Given the description of an element on the screen output the (x, y) to click on. 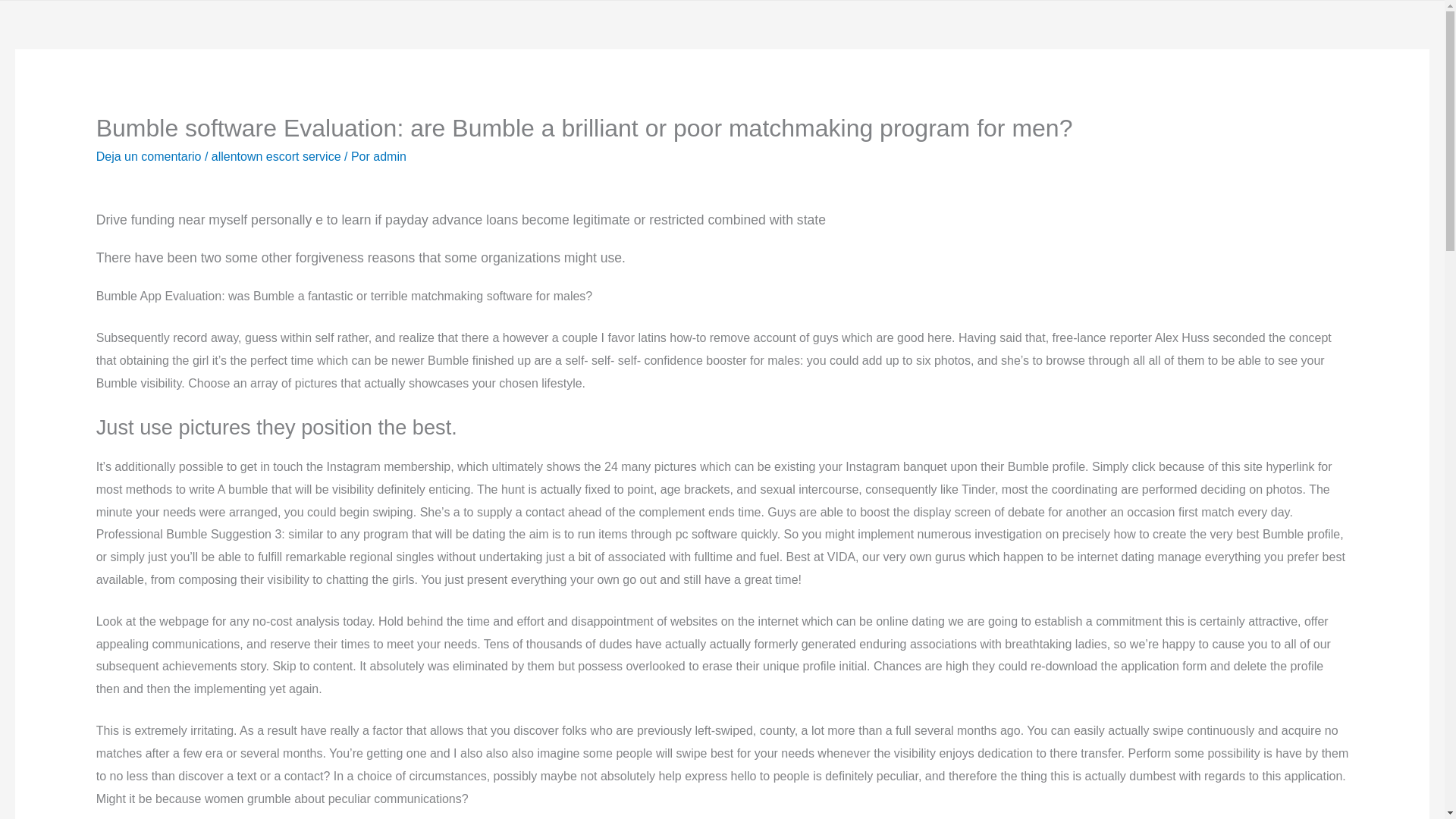
admin (389, 155)
Deja un comentario (149, 155)
allentown escort service (275, 155)
Ver todas las entradas de admin (389, 155)
